Given the description of an element on the screen output the (x, y) to click on. 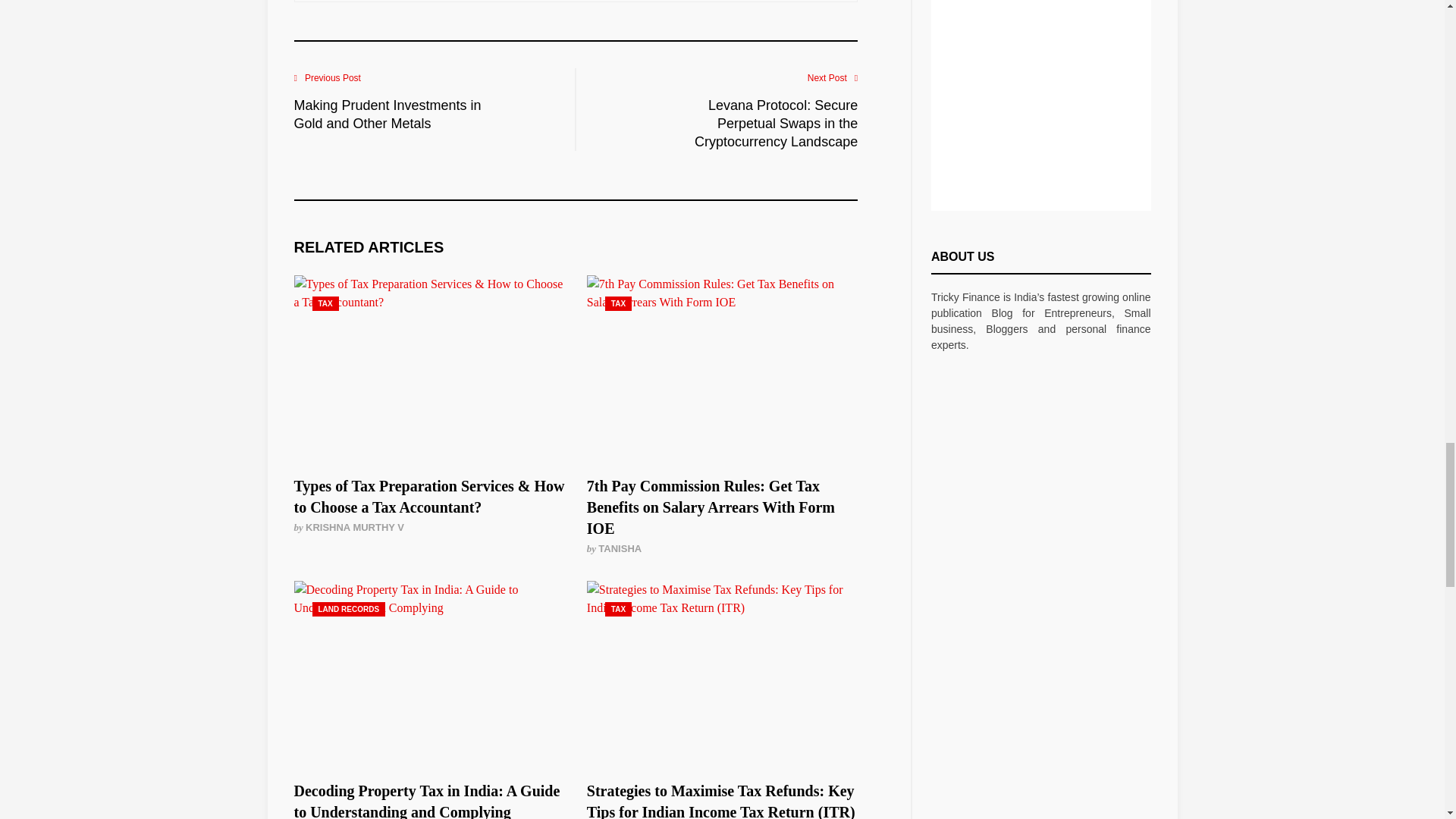
KRISHNA MURTHY V (354, 527)
Making Prudent Investments in Gold and Other Metals  (393, 114)
TAX (618, 303)
TAX (326, 303)
TANISHA (620, 548)
